Given the description of an element on the screen output the (x, y) to click on. 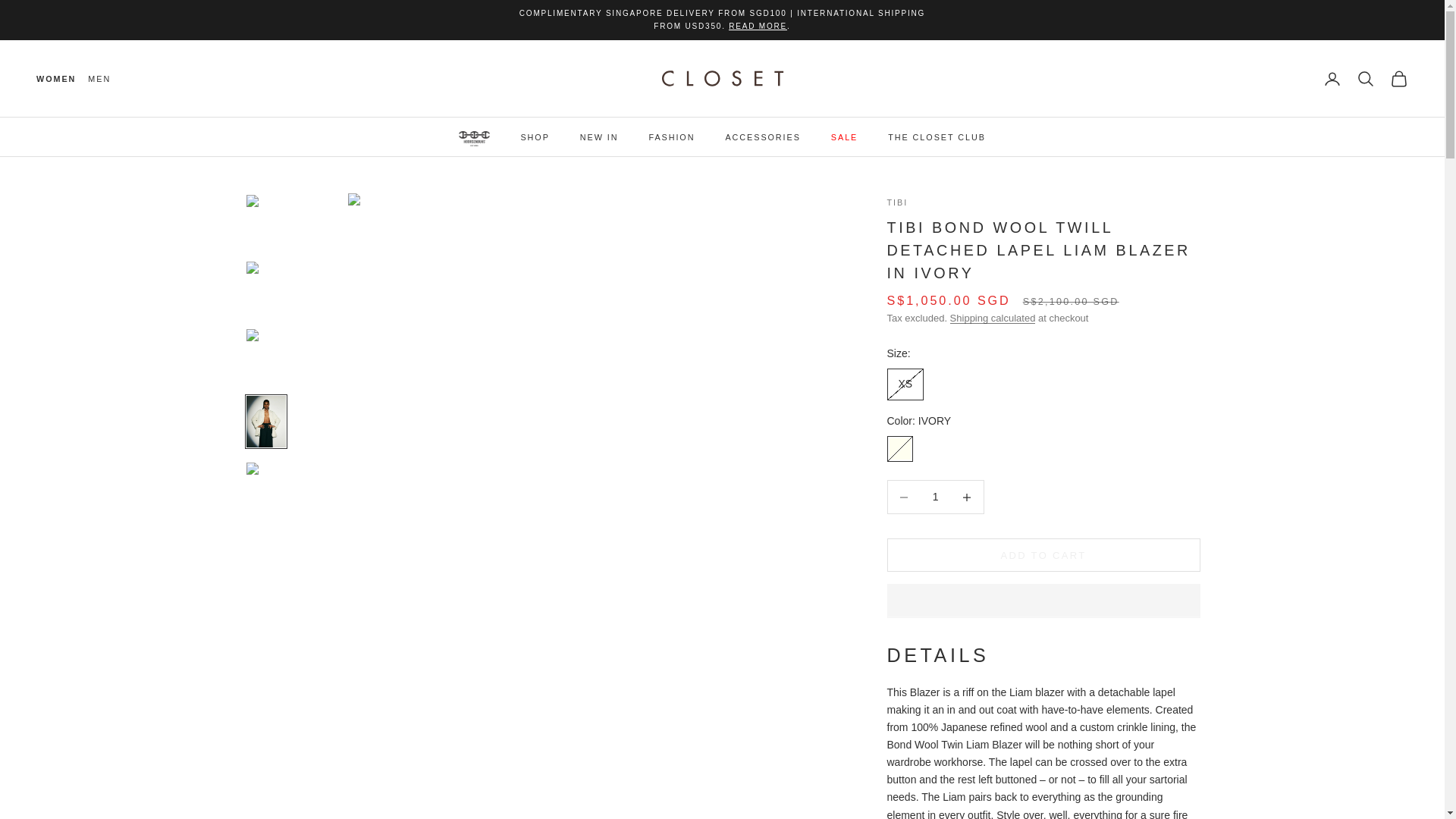
MEN (98, 78)
CLOSET Singapore (722, 78)
1 (935, 496)
WOMEN (55, 78)
Shipping and Delivery (758, 25)
READ MORE (758, 25)
